Given the description of an element on the screen output the (x, y) to click on. 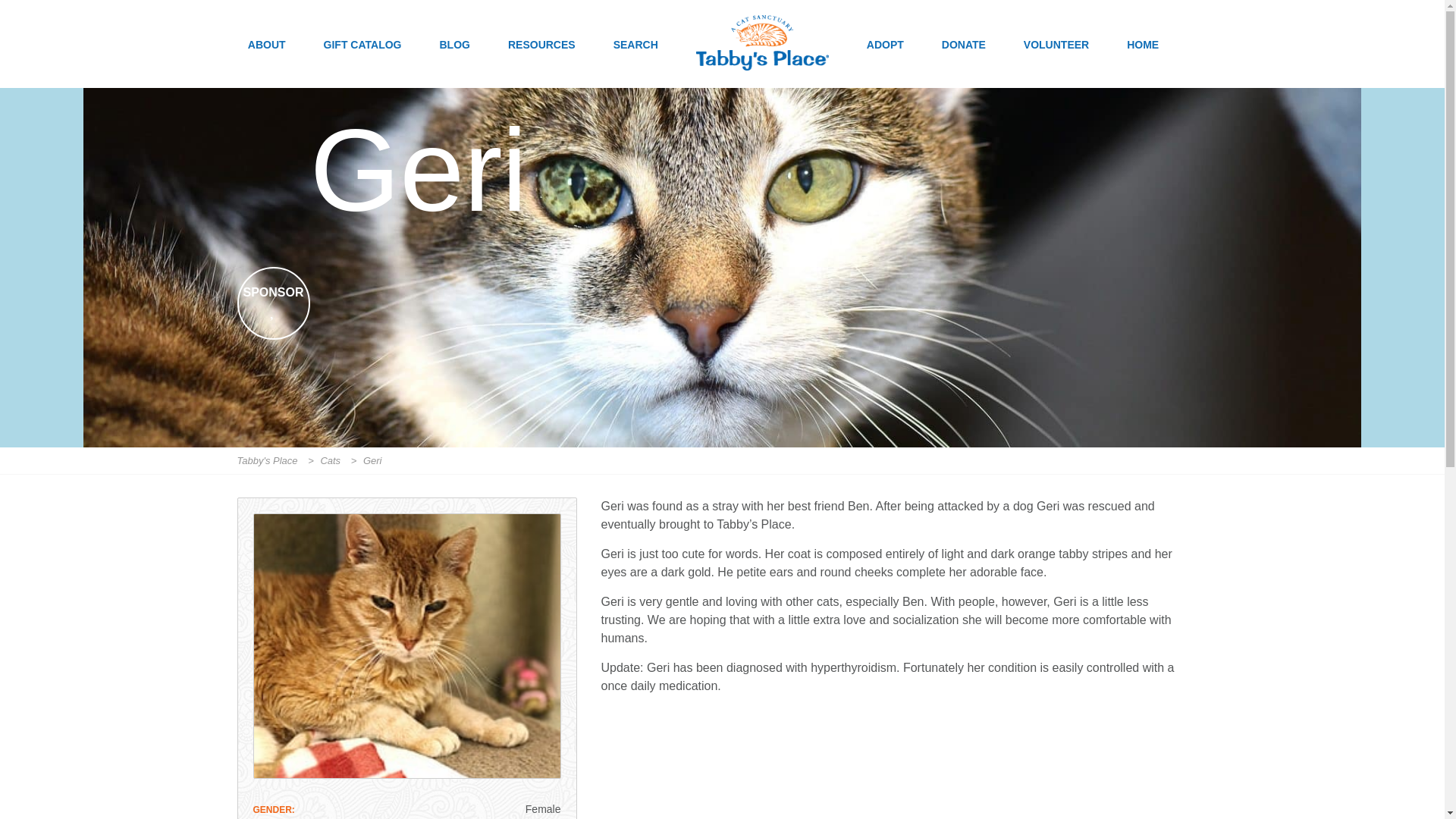
RESOURCES (541, 62)
Go to Tabby's Place. (268, 460)
Go to Cats. (331, 460)
GIFT CATALOG (362, 62)
DONATE (963, 62)
SEARCH (635, 62)
